Given the description of an element on the screen output the (x, y) to click on. 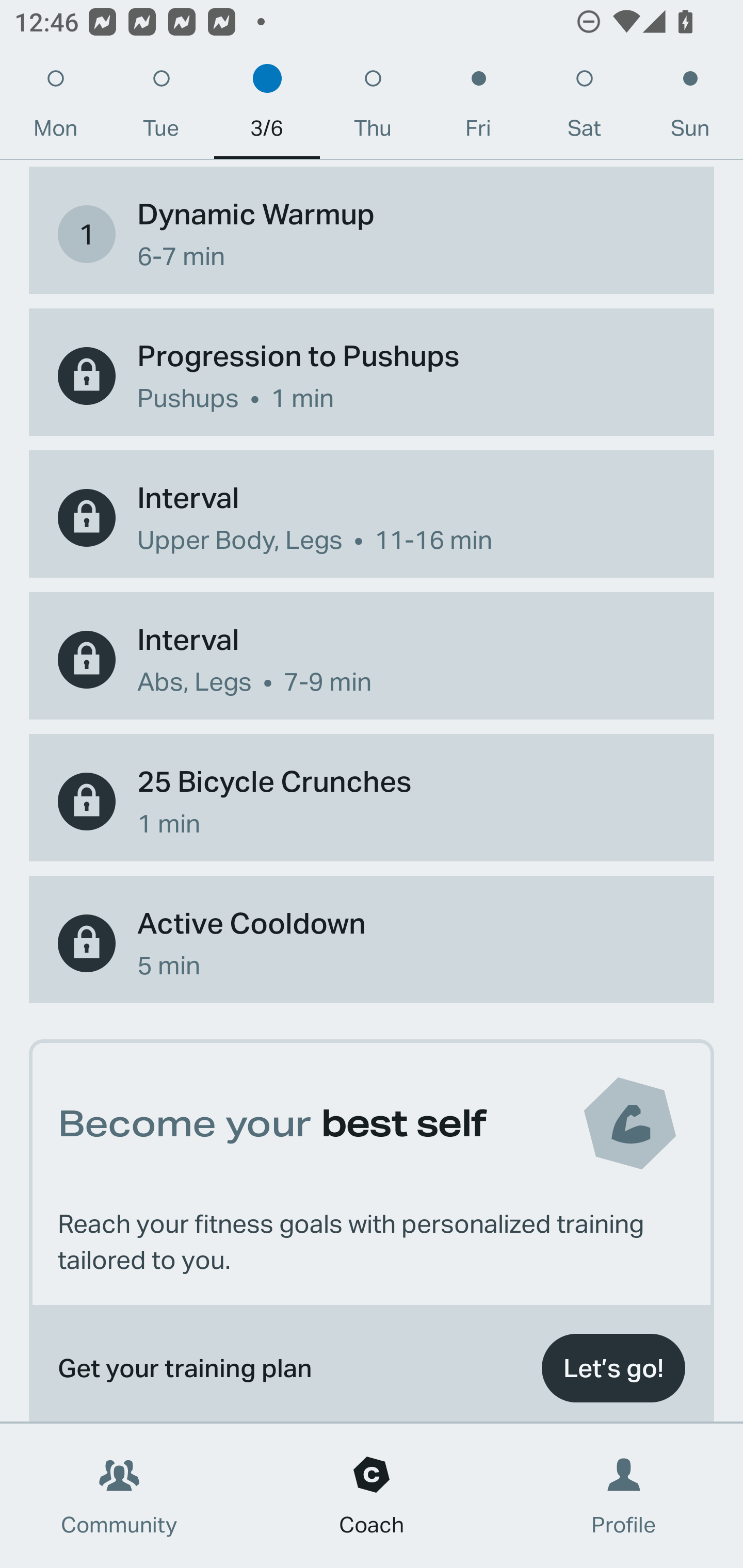
Mon (55, 108)
Tue (160, 108)
3/6 (266, 108)
Thu (372, 108)
Fri (478, 108)
Sat (584, 108)
Sun (690, 108)
1 Dynamic Warmup 6-7 min (371, 234)
Progression to Pushups Pushups  •  1 min (371, 375)
Interval Upper Body, Legs  •  11-16 min (371, 518)
Interval Abs, Legs  •  7-9 min (371, 659)
25 Bicycle Crunches 1 min (371, 801)
Active Cooldown 5 min (371, 943)
Let’s go! (613, 1367)
Community (119, 1495)
Profile (624, 1495)
